Given the description of an element on the screen output the (x, y) to click on. 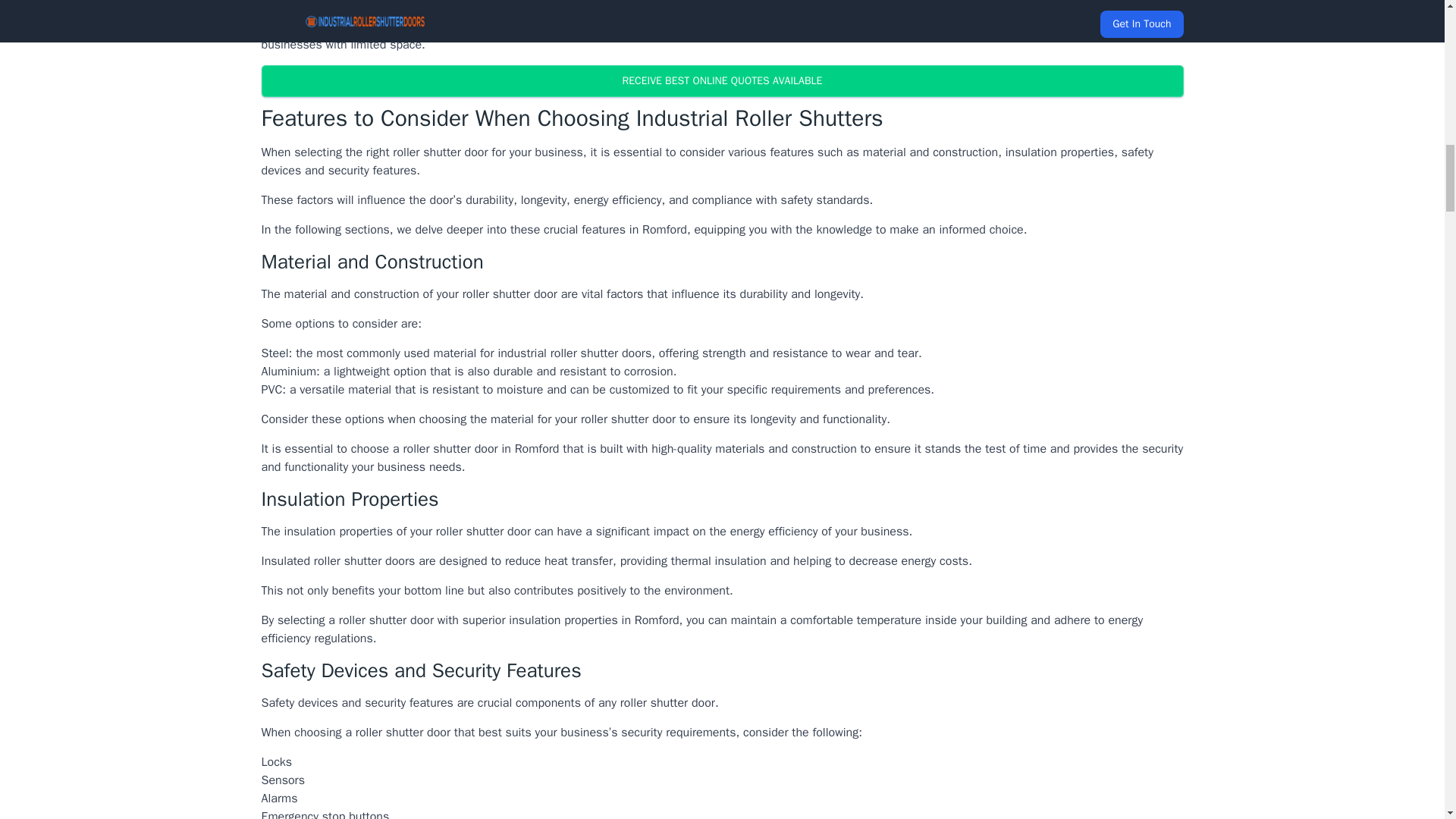
RECEIVE BEST ONLINE QUOTES AVAILABLE (721, 81)
